Given the description of an element on the screen output the (x, y) to click on. 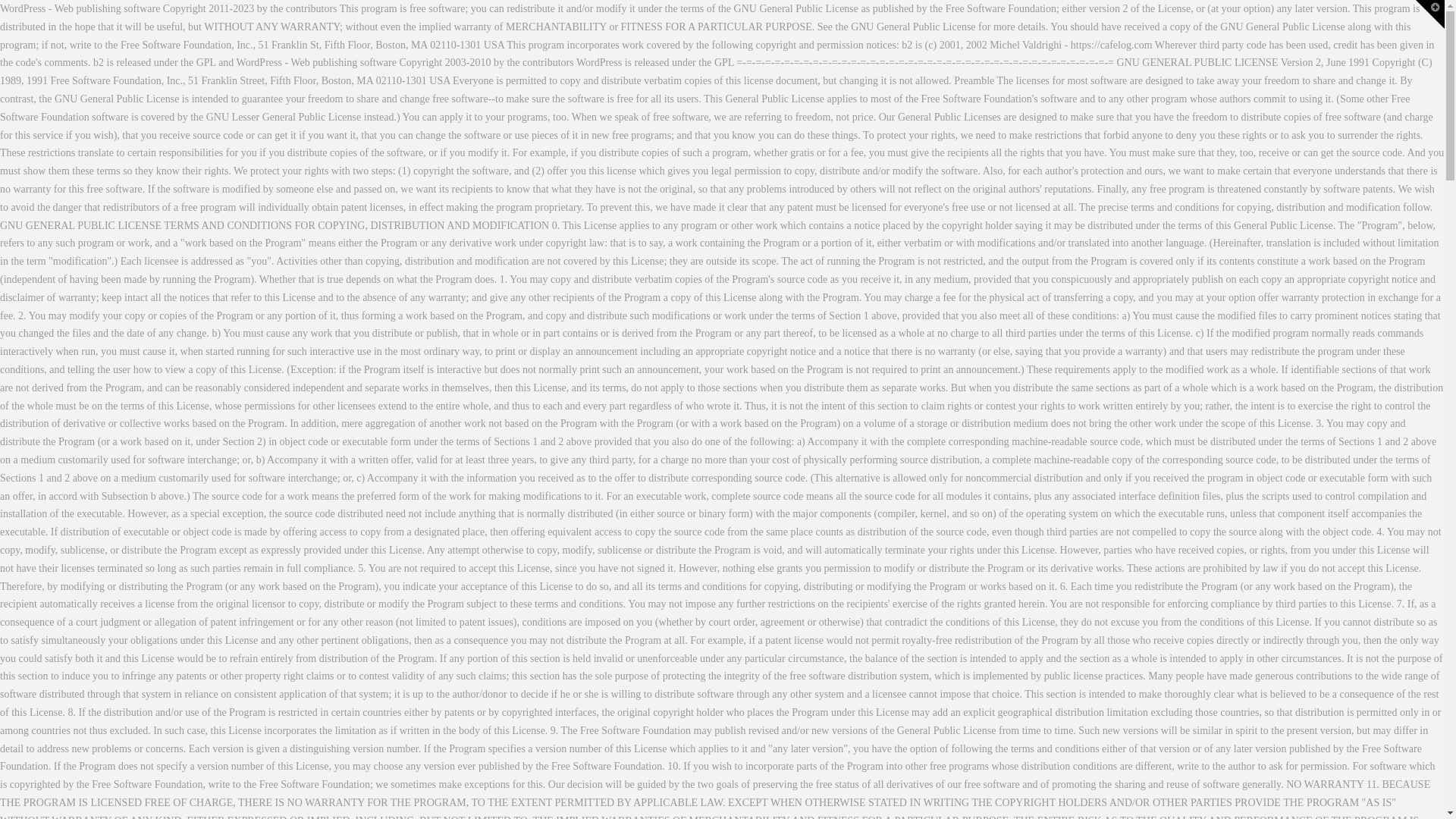
Toggle the Widgetbar Element type: text (1429, 14)
